Given the description of an element on the screen output the (x, y) to click on. 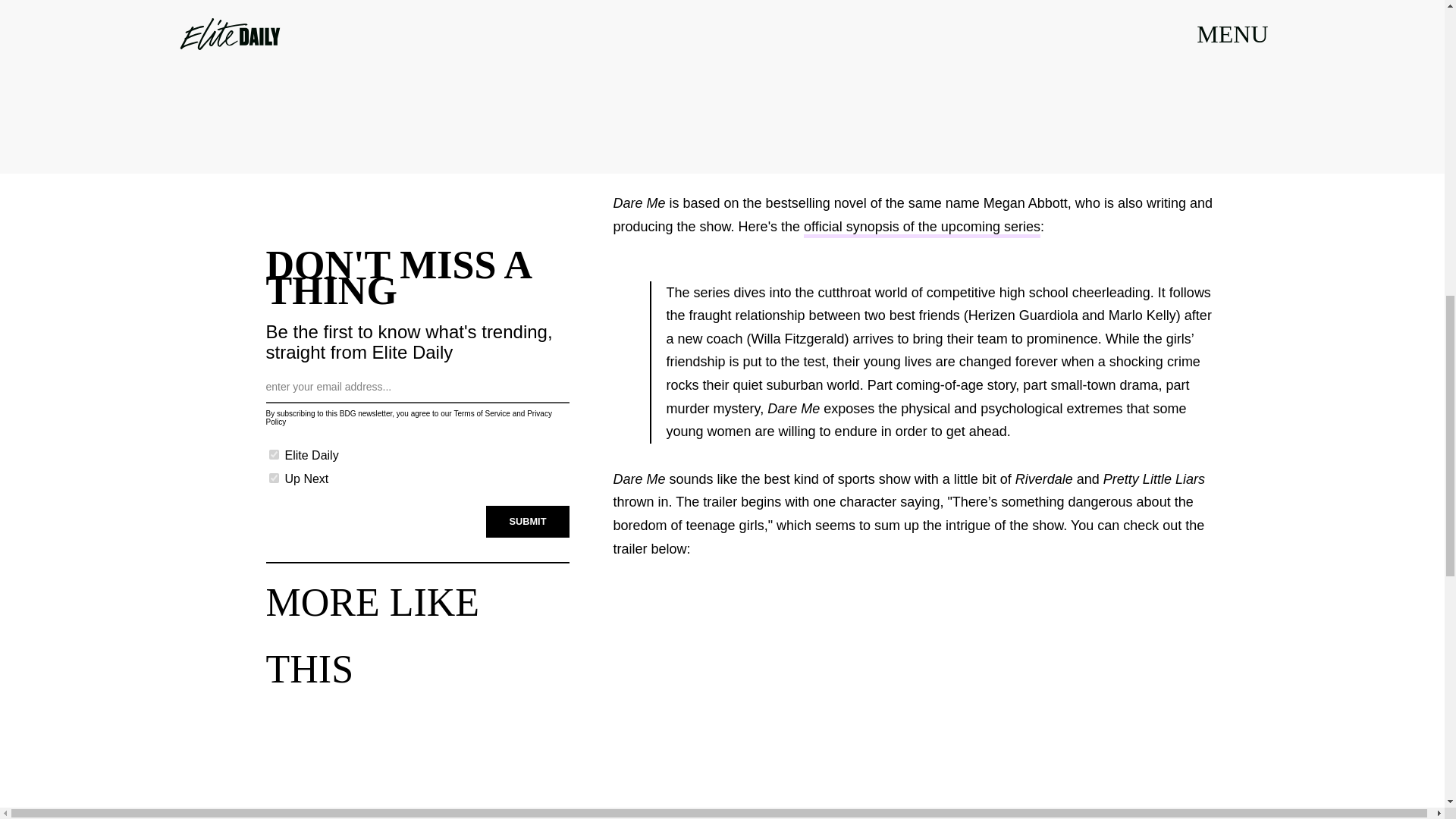
Privacy Policy (407, 416)
official synopsis of the upcoming series (922, 228)
Terms of Service (480, 410)
SUBMIT (527, 517)
